Given the description of an element on the screen output the (x, y) to click on. 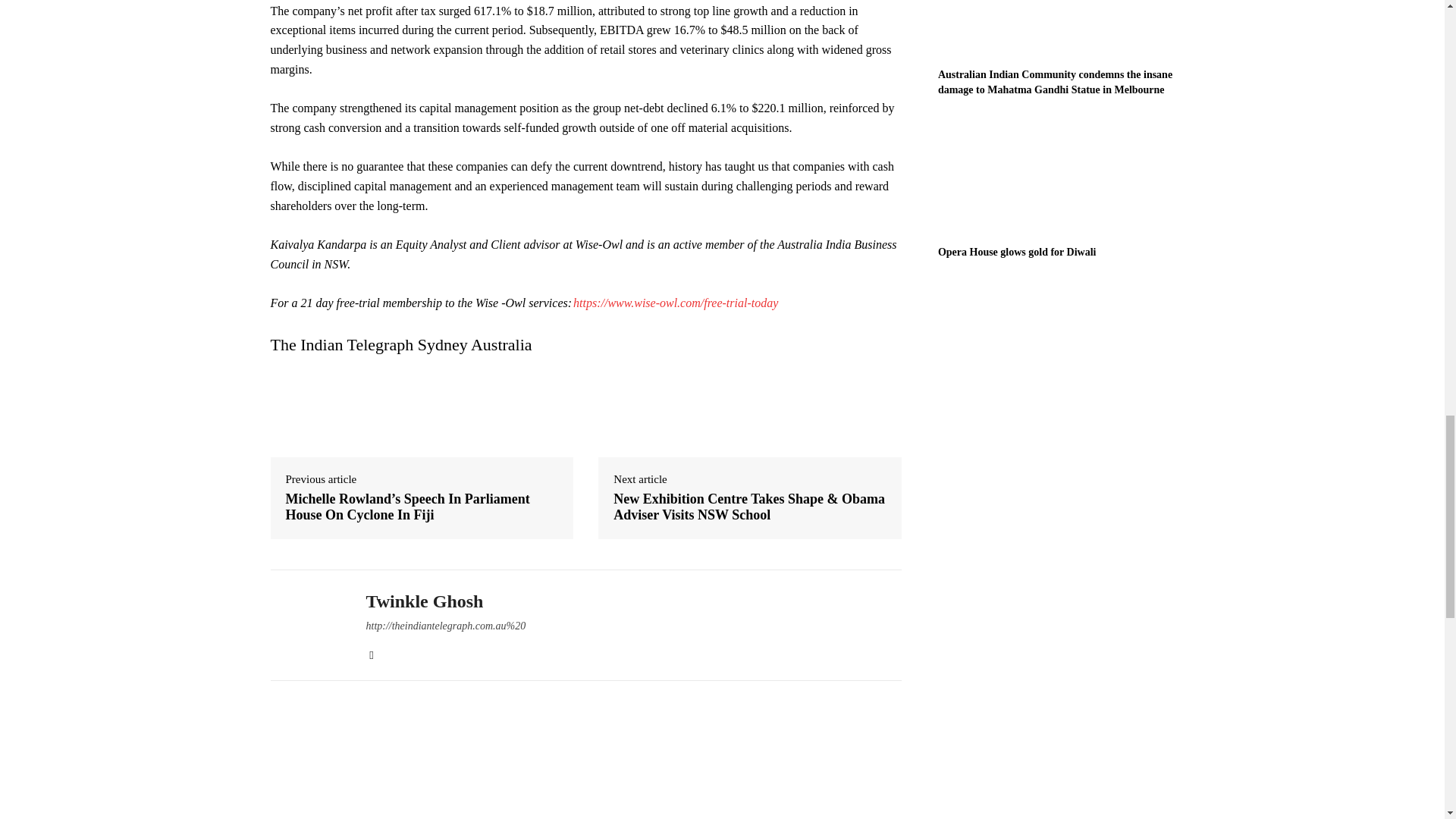
Twinkle Ghosh (305, 625)
facebook (371, 651)
